Given the description of an element on the screen output the (x, y) to click on. 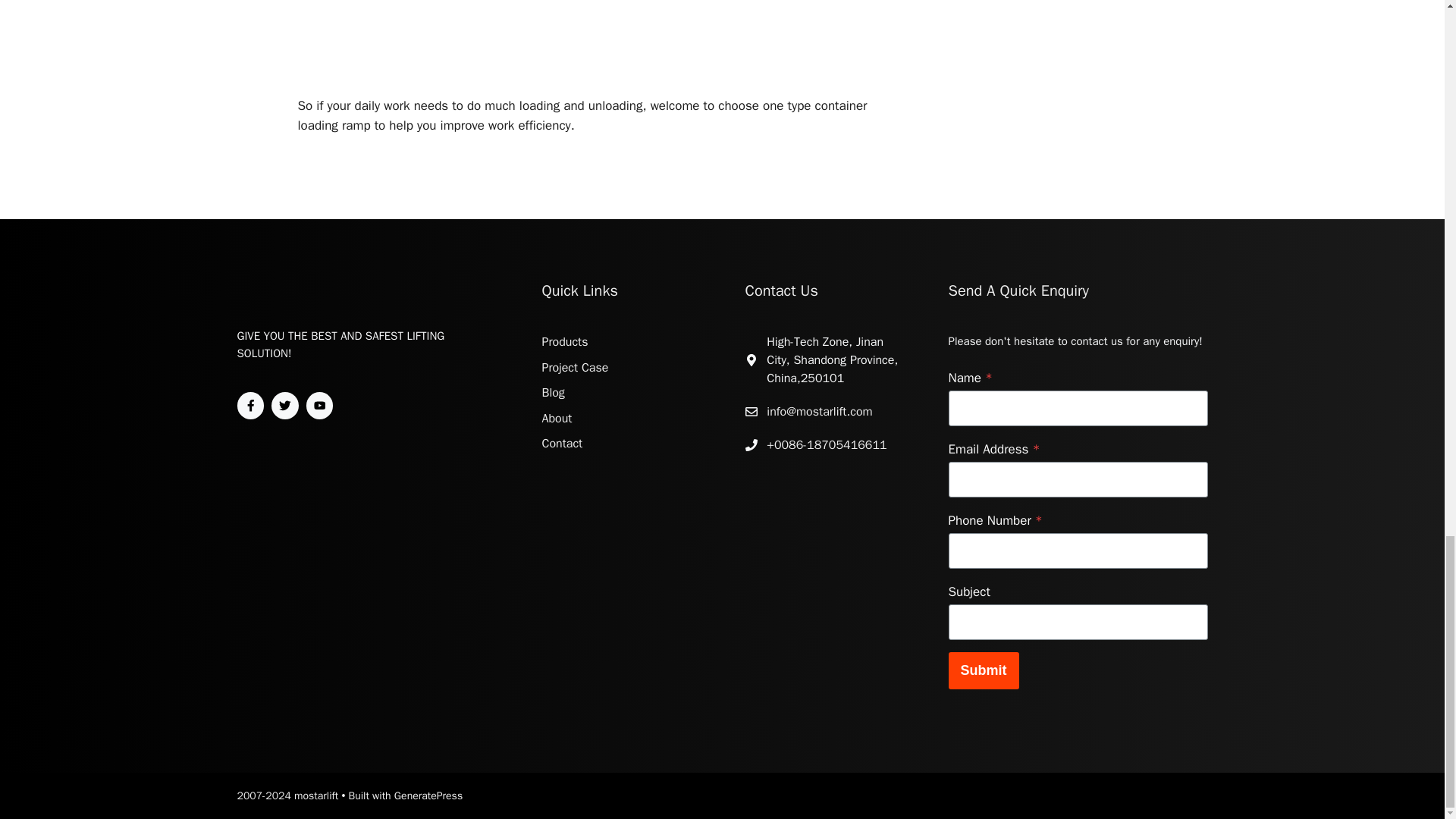
Blog (552, 393)
Products (564, 341)
10 tons container loading ramp for sale 3 (601, 48)
Project Case (574, 367)
